Given the description of an element on the screen output the (x, y) to click on. 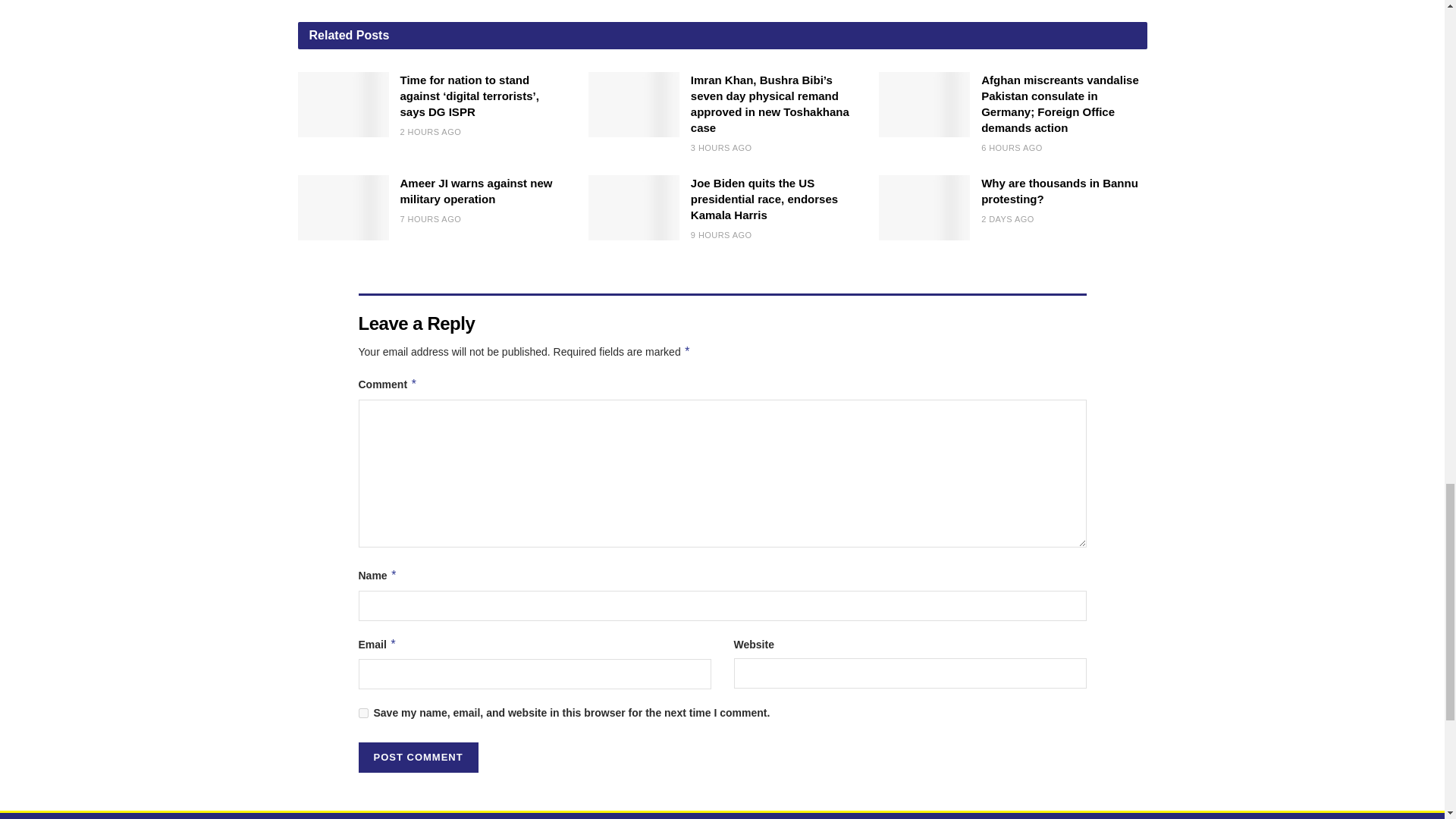
Post Comment (417, 757)
yes (363, 713)
